Given the description of an element on the screen output the (x, y) to click on. 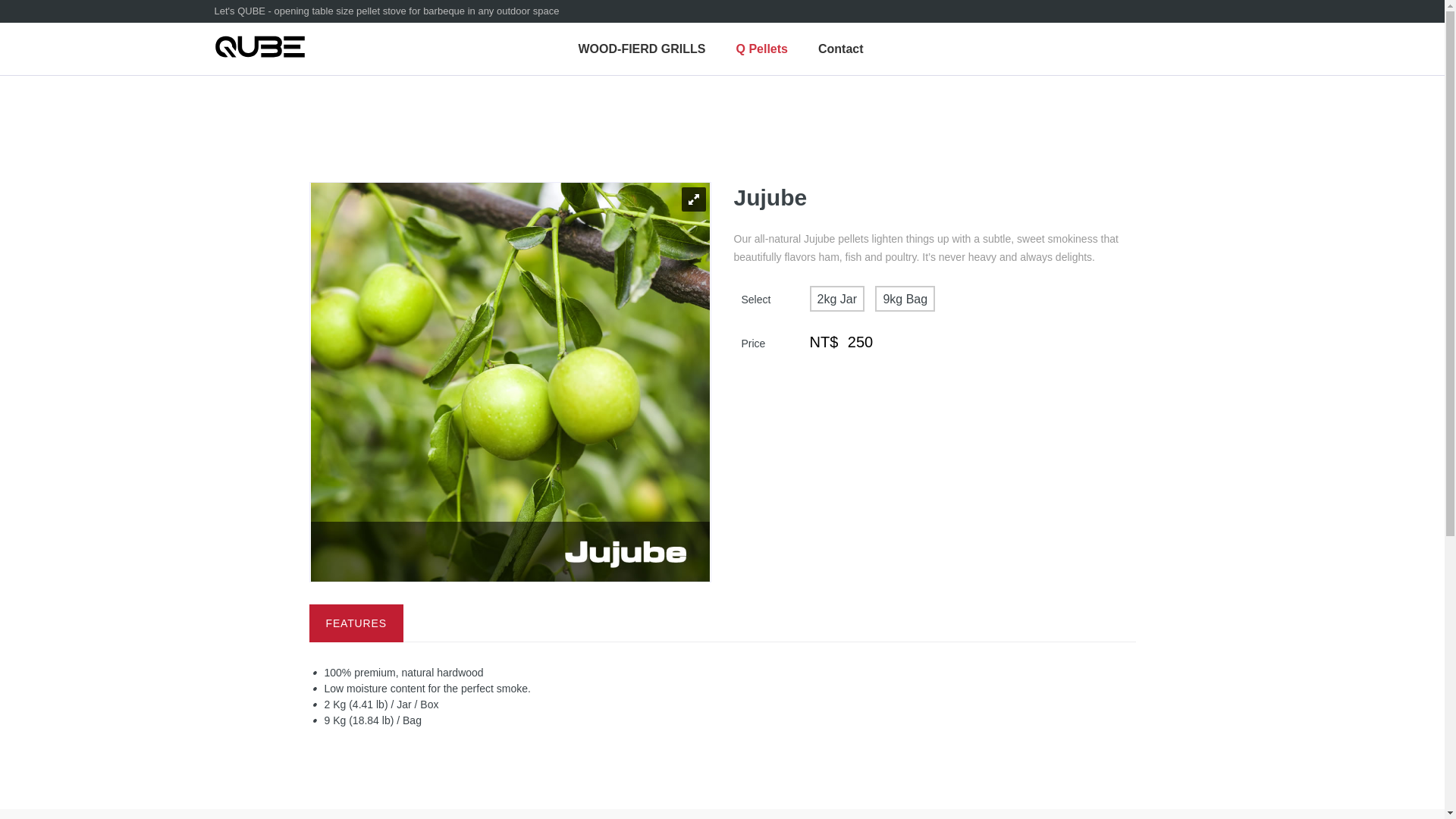
Contact (841, 49)
Q Pellets (761, 49)
2kg Jar (836, 298)
WOOD-FIERD GRILLS (641, 49)
FEATURES (355, 623)
9kg Bag (904, 298)
